Given the description of an element on the screen output the (x, y) to click on. 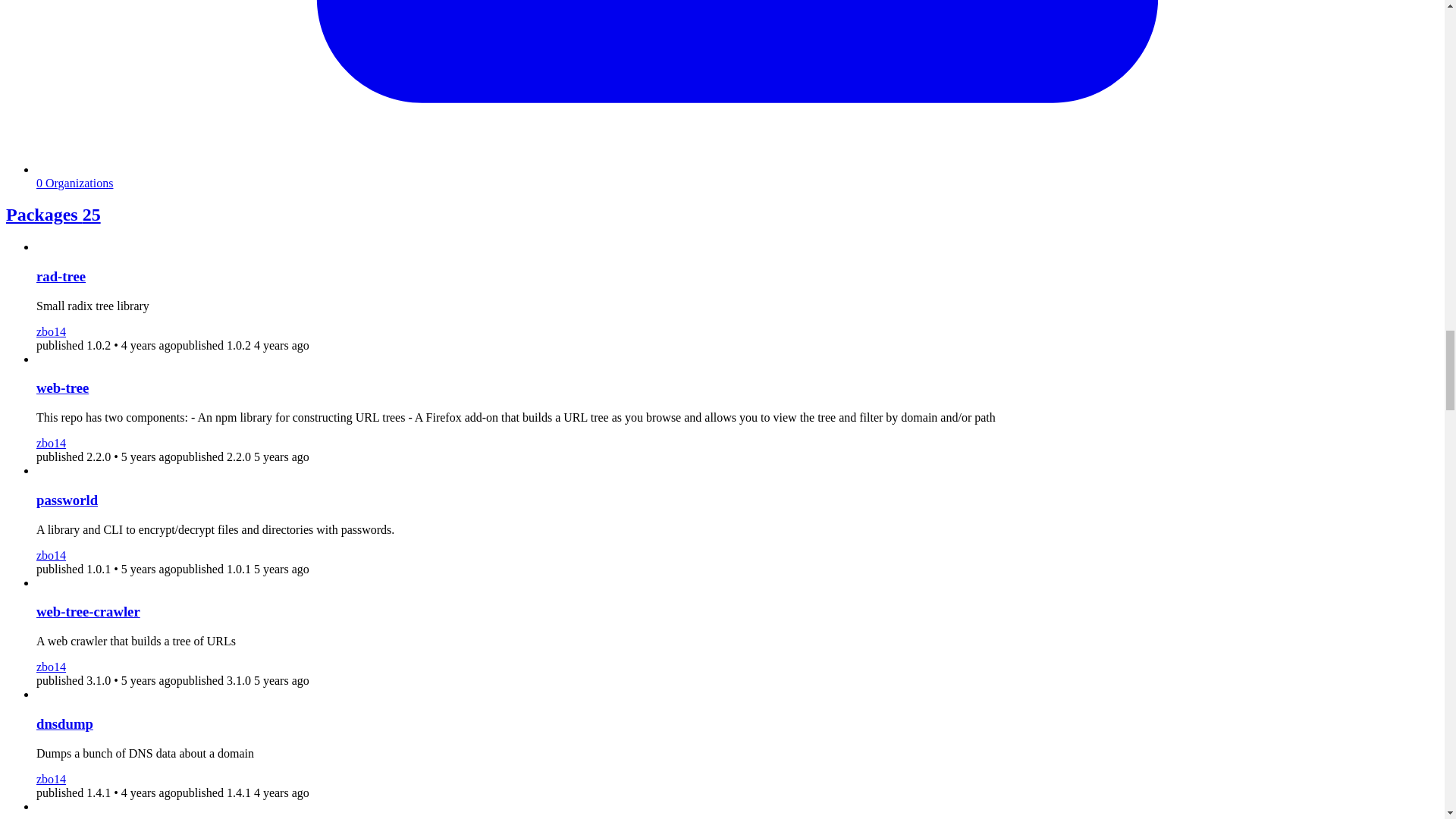
zbo14 (50, 554)
zbo14 (50, 666)
zbo14 (50, 331)
Packages 25 (52, 214)
zbo14 (50, 778)
zbo14 (50, 442)
